Given the description of an element on the screen output the (x, y) to click on. 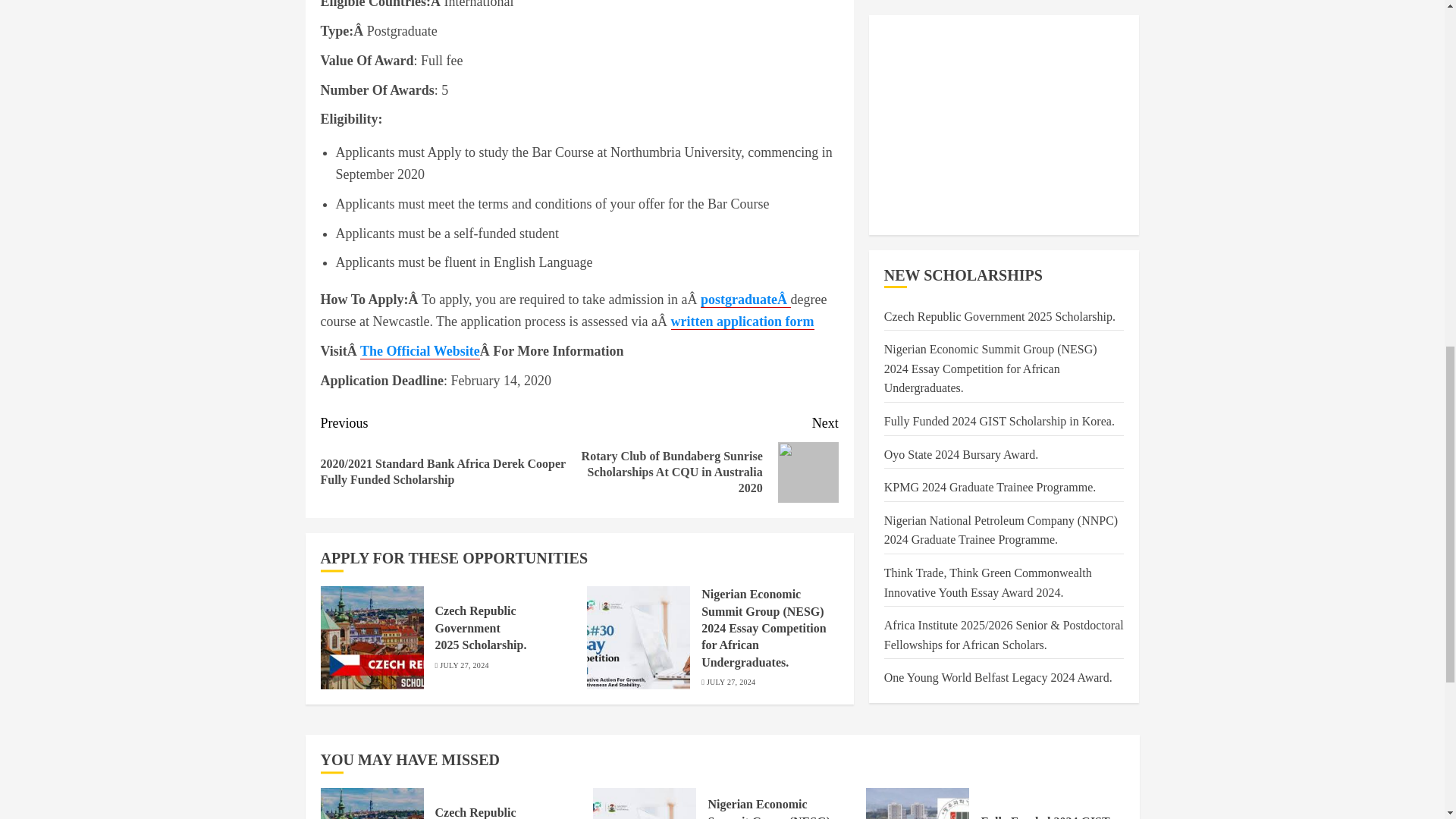
written application form (742, 321)
JULY 27, 2024 (463, 665)
The Official Website (419, 351)
postgraduate (738, 299)
Czech Republic Government 2025 Scholarship. (481, 627)
Czech Republic Government 2025 Scholarship. (371, 637)
JULY 27, 2024 (730, 682)
